Given the description of an element on the screen output the (x, y) to click on. 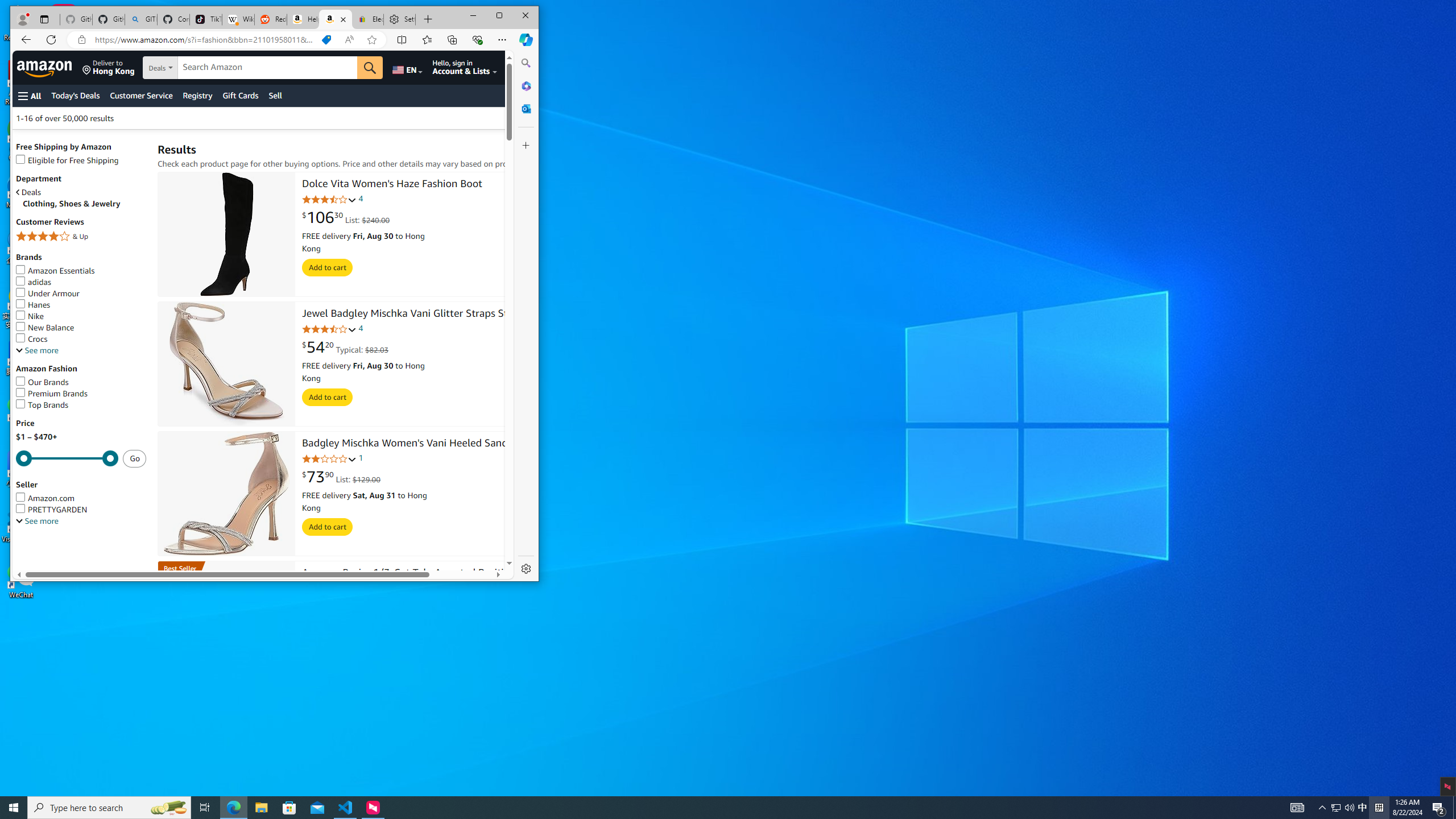
Task View (204, 807)
Nike (29, 315)
Deals (29, 192)
4 Stars & Up& Up (80, 237)
Crocs (80, 338)
Eligible for Free Shipping (80, 160)
Choose a language for shopping. (406, 67)
$54.20 Typical: $82.03 (344, 347)
Maximum (67, 458)
